Given the description of an element on the screen output the (x, y) to click on. 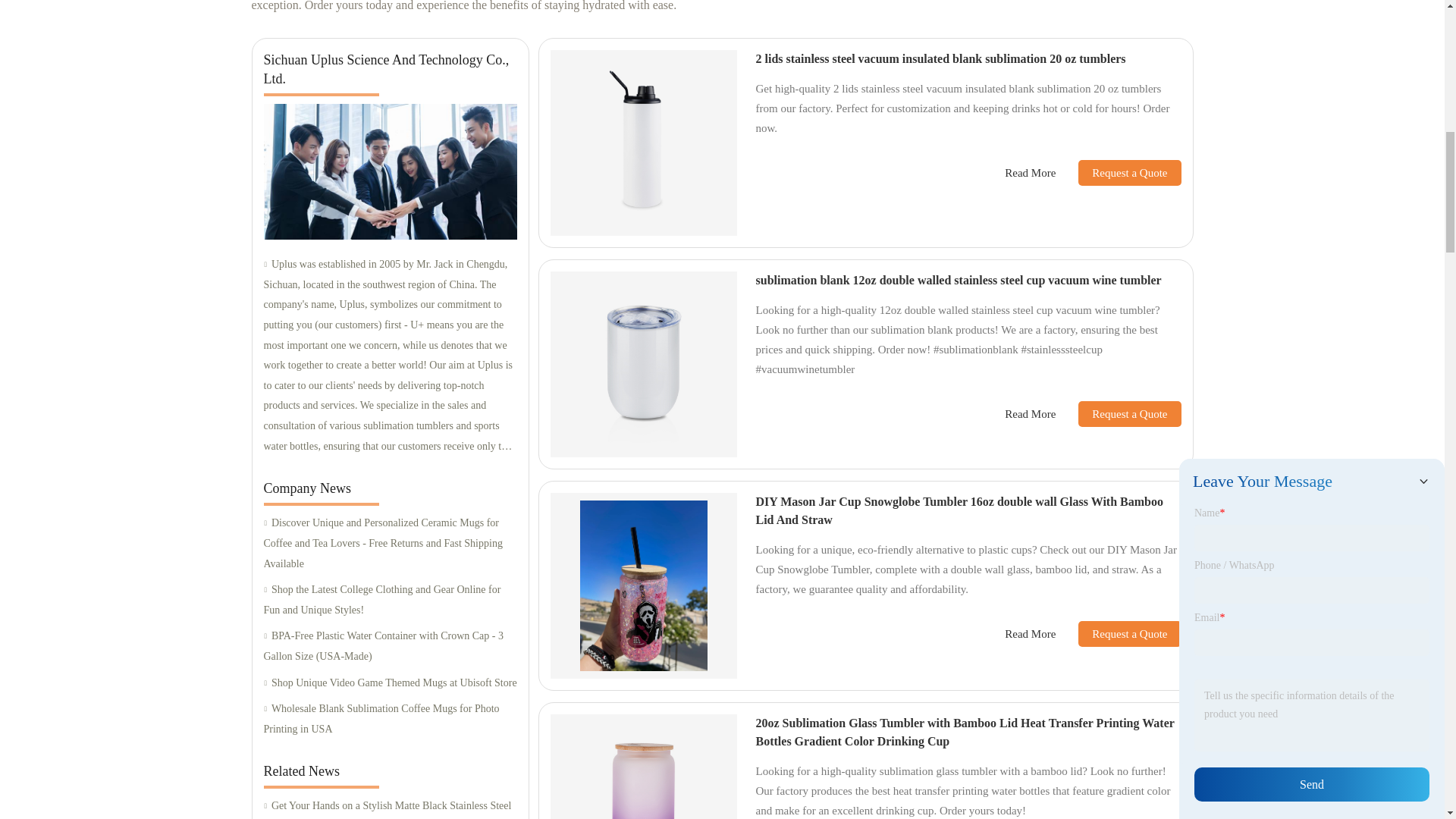
Read More (1029, 414)
Shop Unique Video Game Themed Mugs at Ubisoft Store (389, 683)
Request a Quote (1117, 172)
Request a Quote (1117, 413)
Read More (1029, 172)
